Given the description of an element on the screen output the (x, y) to click on. 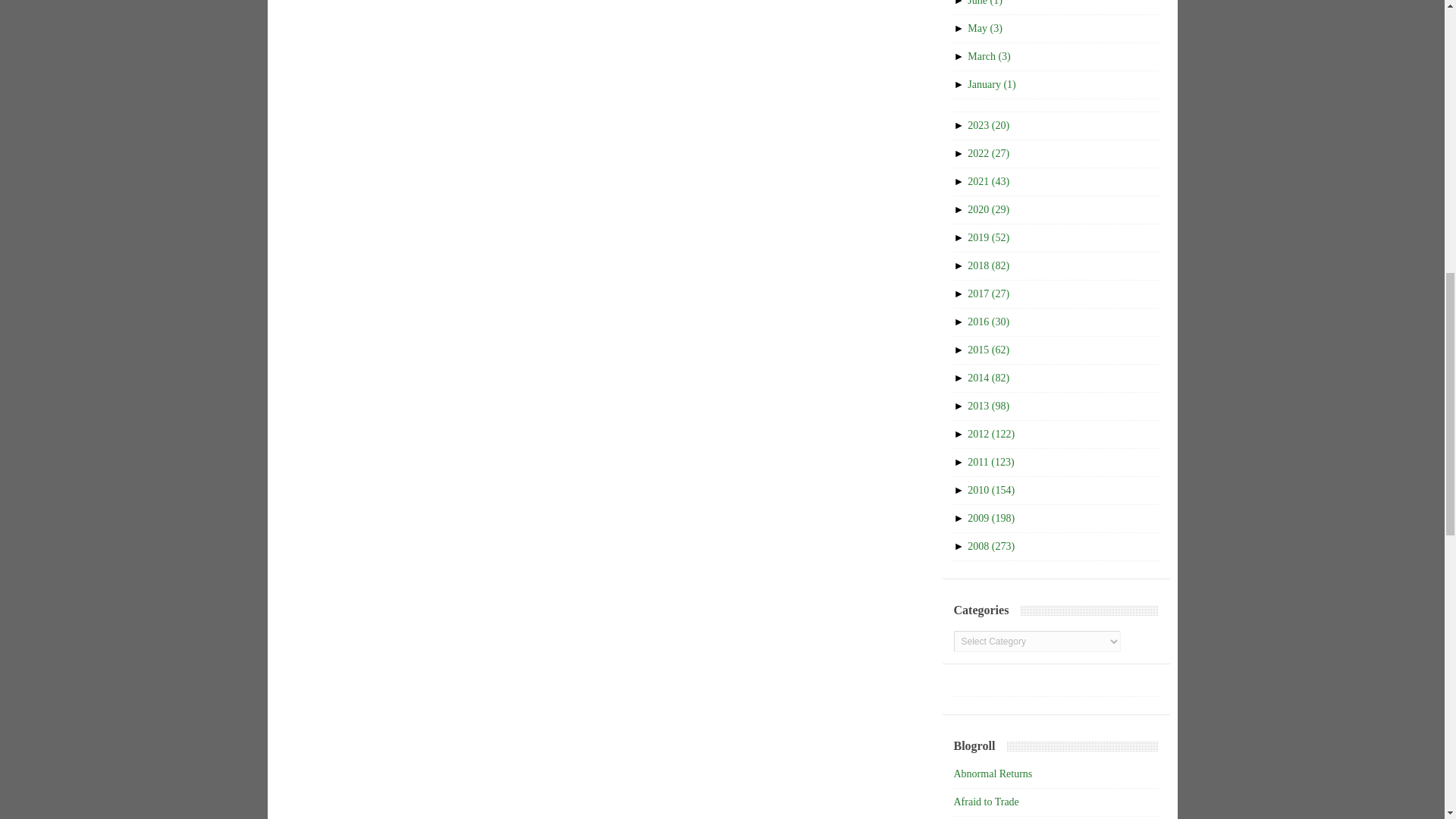
March (989, 56)
May (985, 28)
click to expand (960, 84)
click to expand (960, 28)
click to expand (960, 125)
click to expand (960, 56)
January (991, 84)
click to expand (960, 2)
June (985, 2)
